Given the description of an element on the screen output the (x, y) to click on. 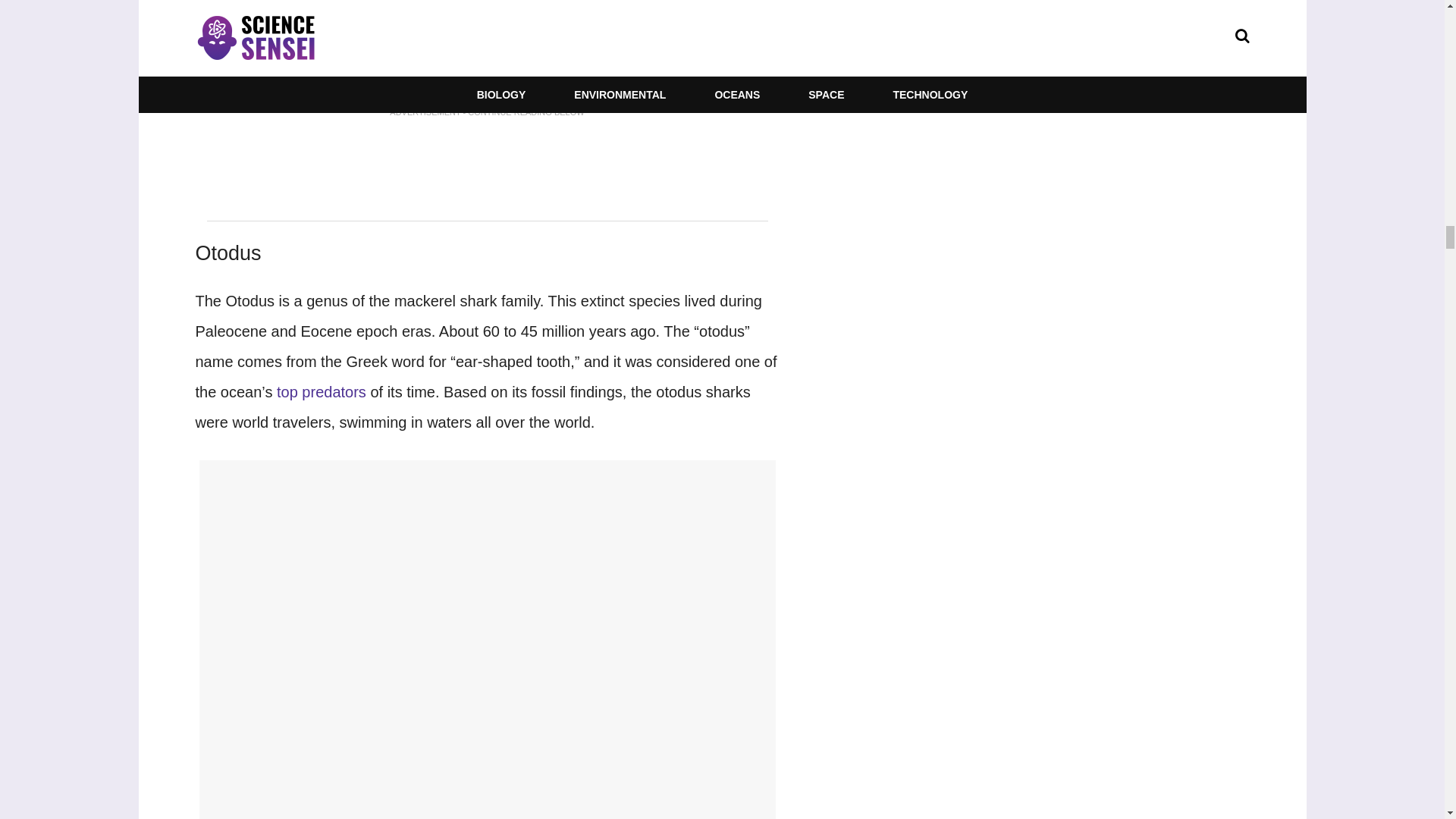
top predators (321, 392)
